Given the description of an element on the screen output the (x, y) to click on. 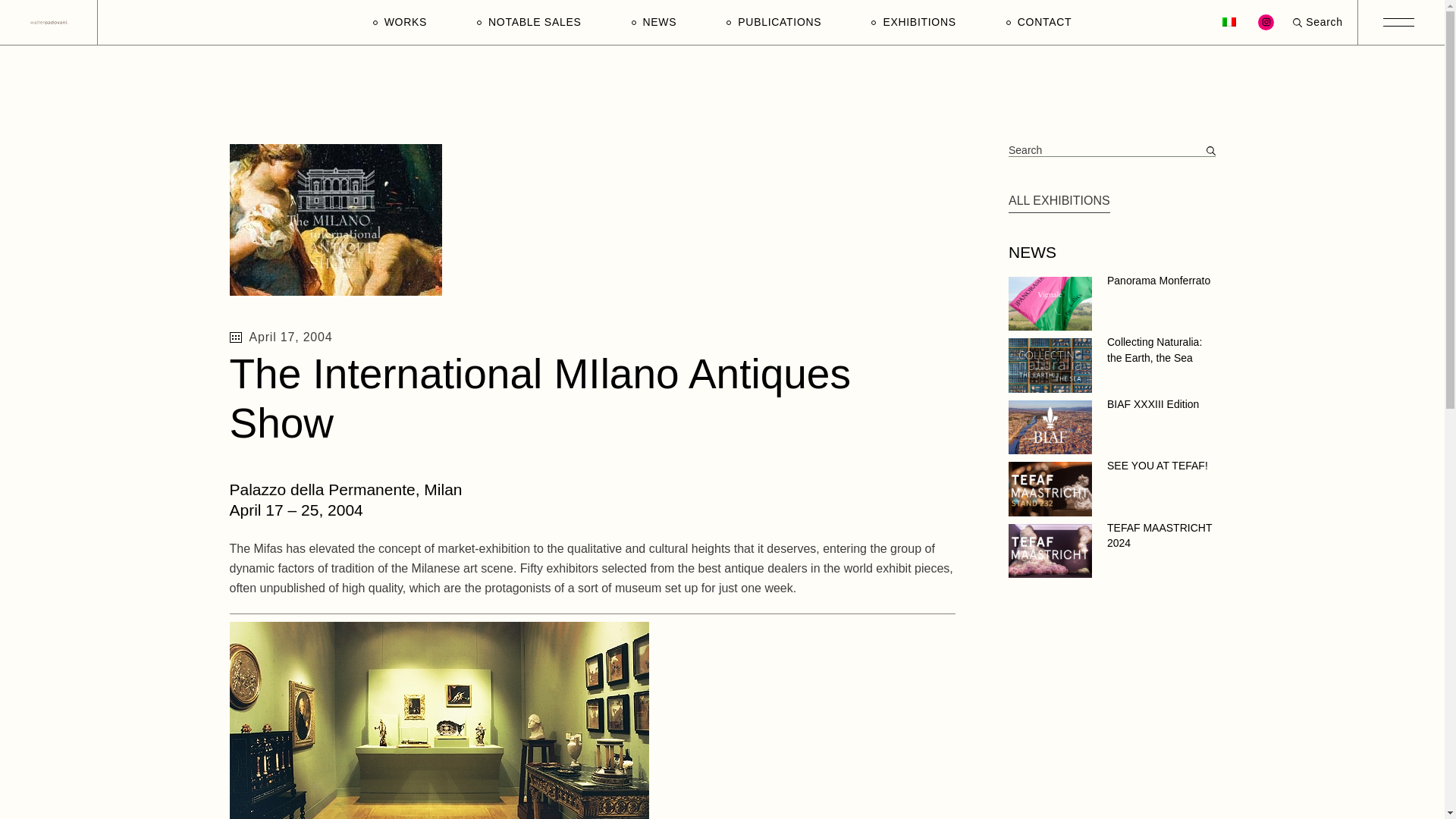
NEWS (654, 22)
CONTACT (1038, 22)
WORKS (399, 22)
PUBLICATIONS (773, 22)
Italian (1229, 20)
Search (1317, 22)
ALL EXHIBITIONS (1059, 200)
NOTABLE SALES (528, 22)
April 17, 2004 (591, 337)
EXHIBITIONS (912, 22)
Panorama Monferrato (1157, 280)
